Given the description of an element on the screen output the (x, y) to click on. 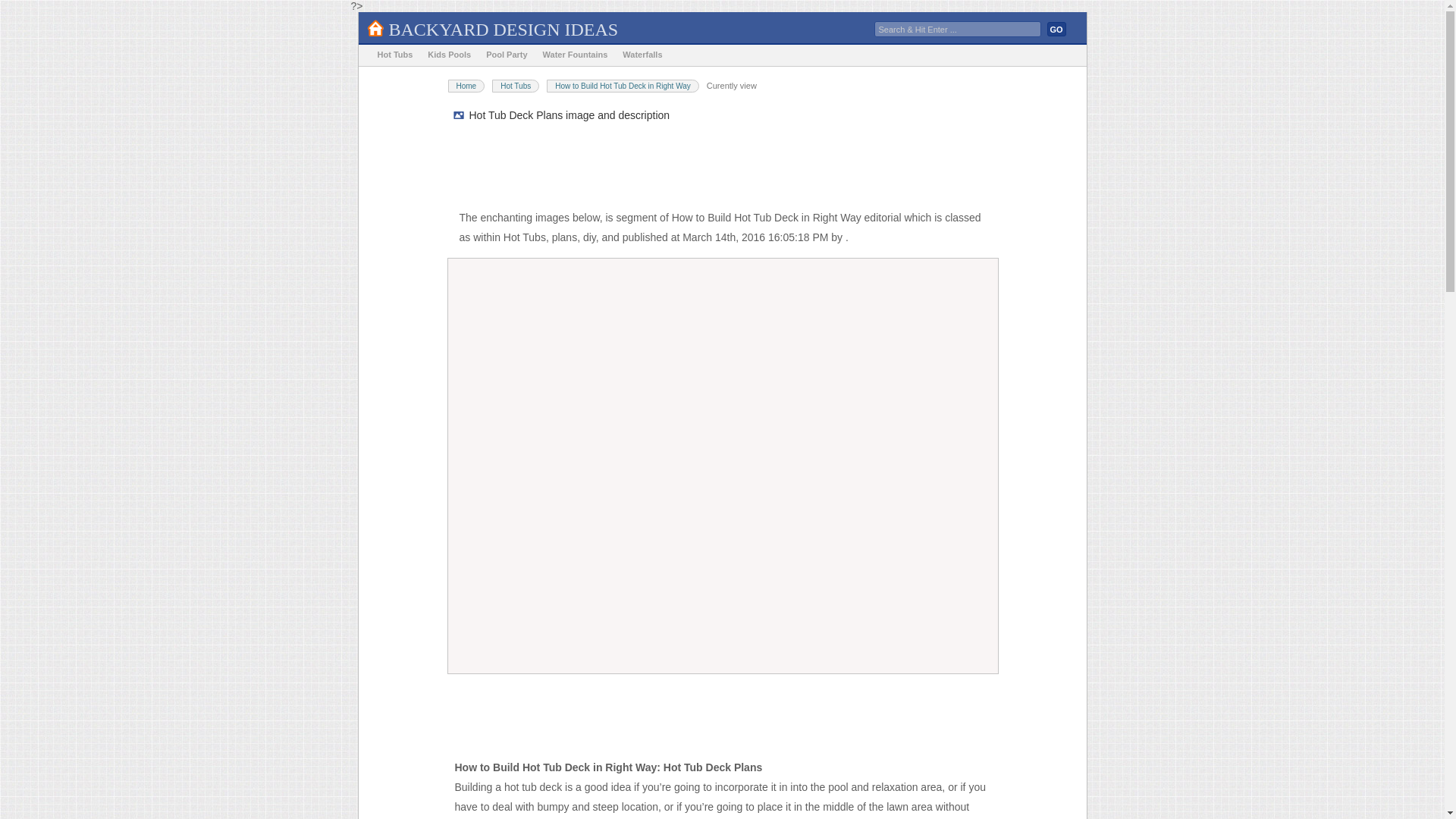
Water Fountains (575, 54)
Backyard Design Ideas (502, 29)
Home (465, 85)
How to Build Hot Tub Deck in Right Way (622, 85)
BACKYARD DESIGN IDEAS (502, 29)
GO (1055, 29)
Waterfalls (641, 54)
Hot Tubs (394, 54)
Hot Tubs (515, 85)
GO (1055, 29)
Pool Party (506, 54)
Kids Pools (449, 54)
